Given the description of an element on the screen output the (x, y) to click on. 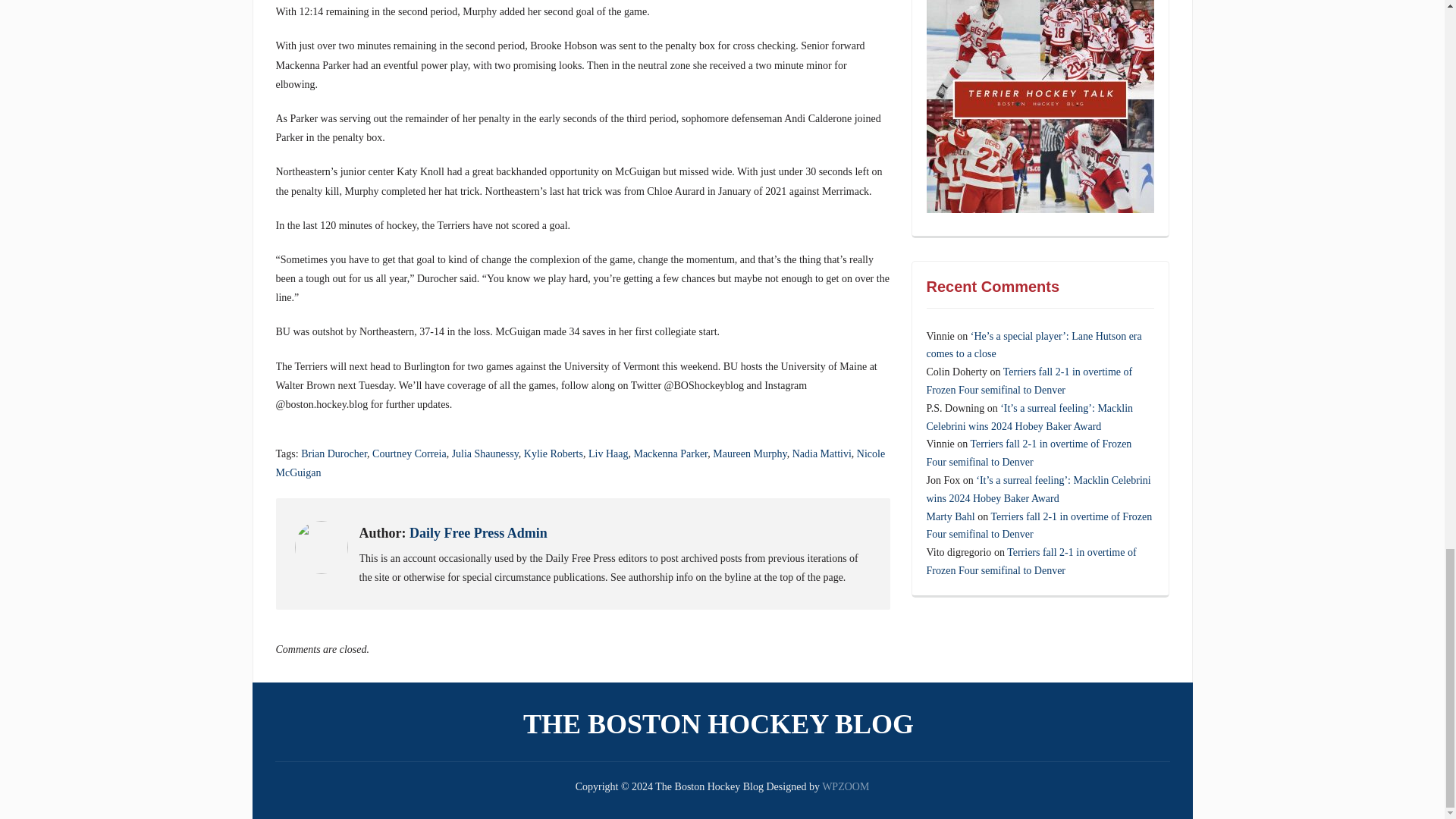
Nadia Mattivi (821, 453)
Courtney Correia (409, 453)
Daily Free Press Admin (478, 532)
Maureen Murphy (749, 453)
Nicole McGuigan (580, 462)
WPZOOM WordPress Themes (845, 786)
Liv Haag (607, 453)
Kylie Roberts (553, 453)
Mackenna Parker (670, 453)
Brian Durocher (333, 453)
